Given the description of an element on the screen output the (x, y) to click on. 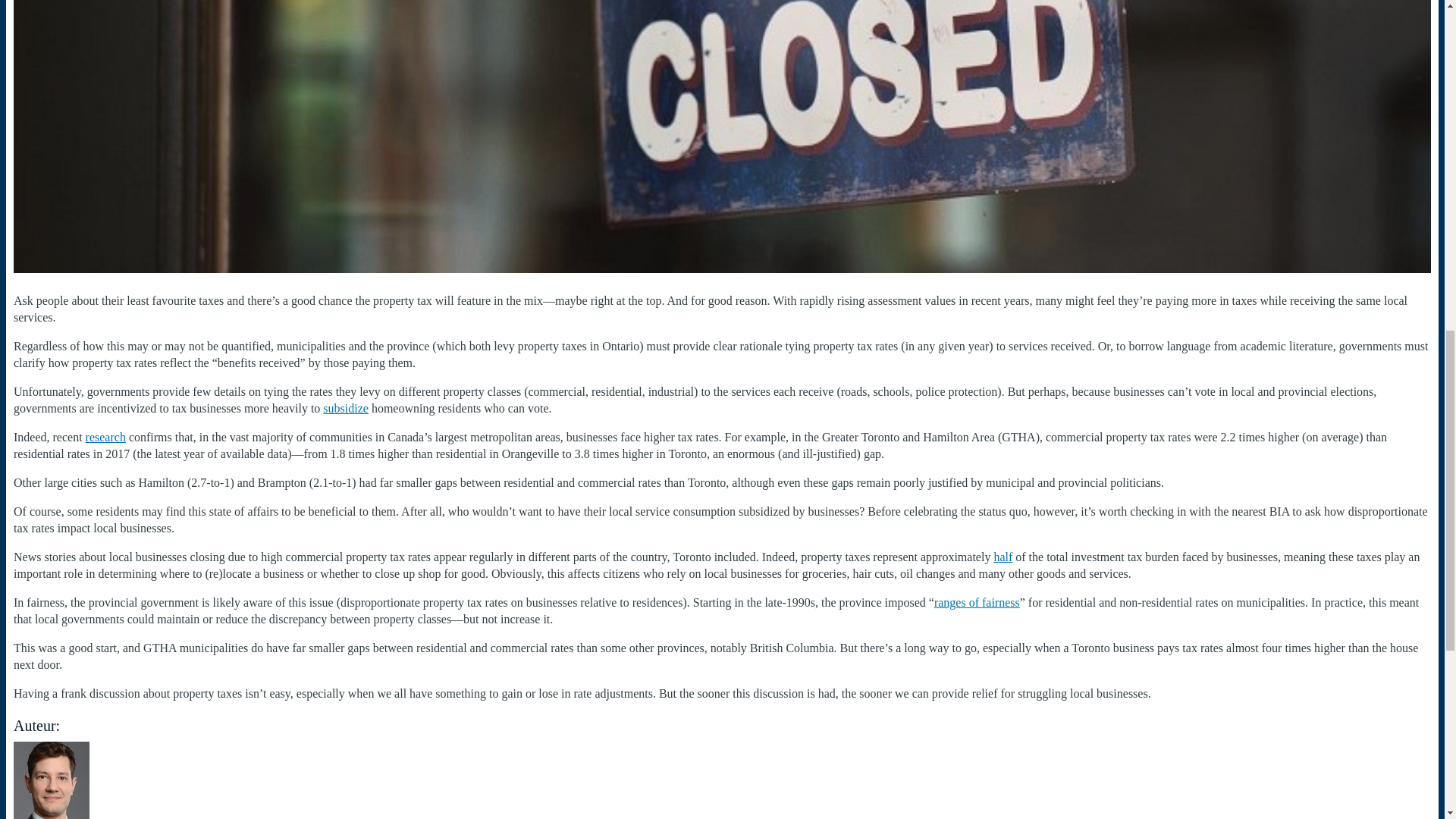
ranges of fairness (977, 602)
research (105, 436)
subsidize (345, 408)
half (1001, 556)
